Given the description of an element on the screen output the (x, y) to click on. 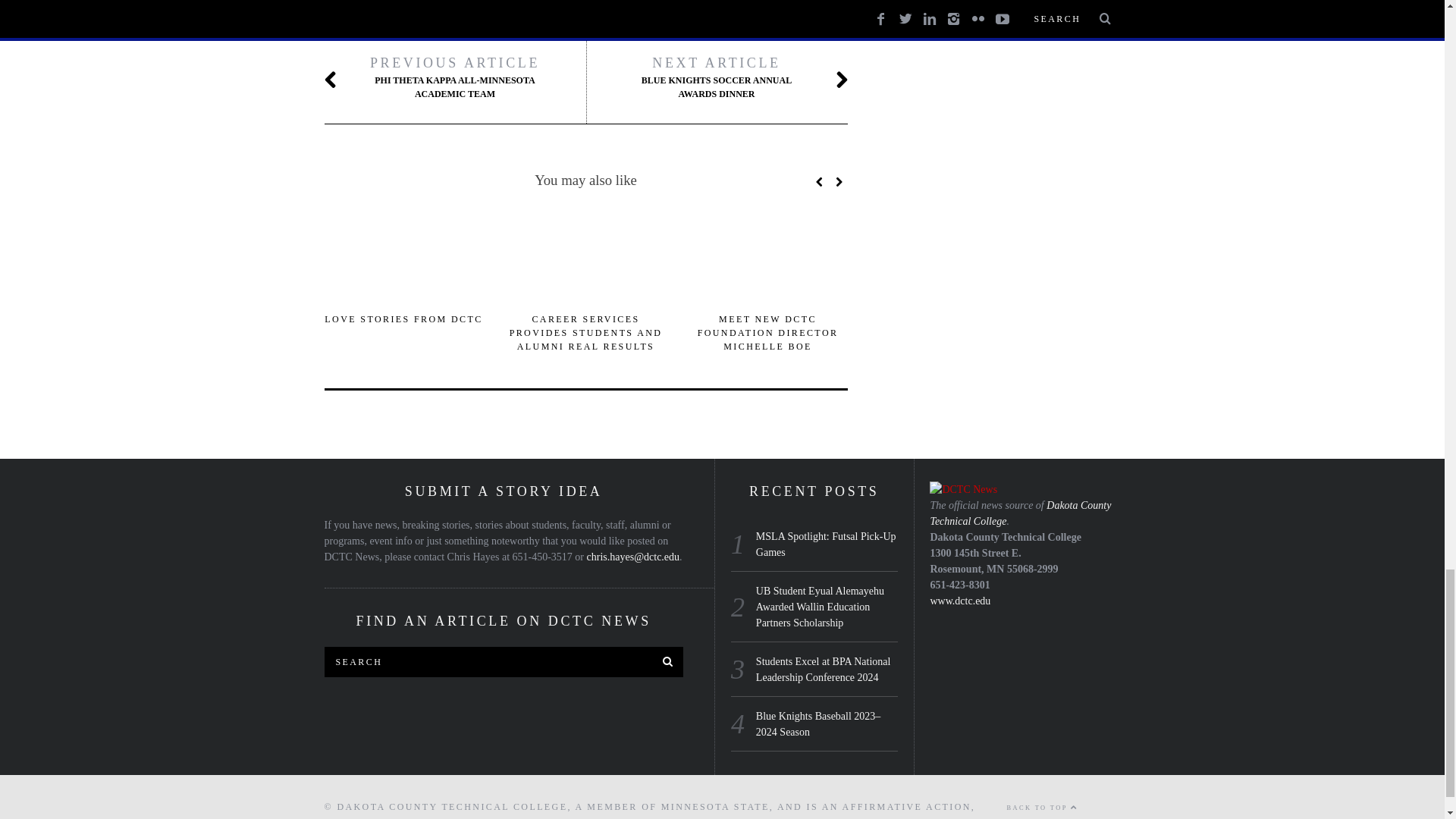
Search (503, 662)
